Given the description of an element on the screen output the (x, y) to click on. 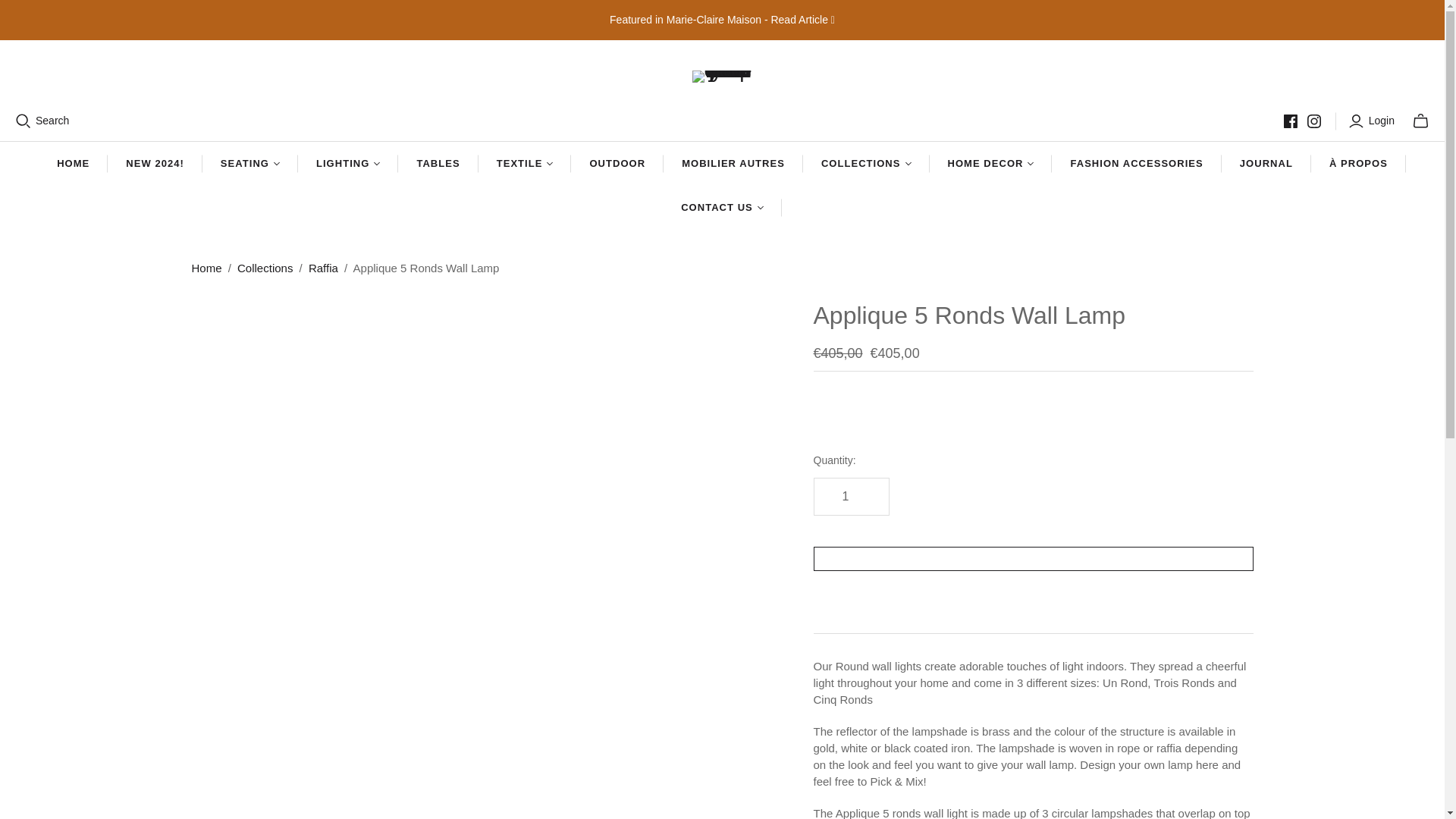
NEW 2024! (154, 163)
Toggle mini cart (1419, 121)
HOME (73, 163)
OUTDOOR (616, 163)
Login (1373, 121)
1 (850, 496)
TABLES (437, 163)
MOBILIER AUTRES (733, 163)
